Given the description of an element on the screen output the (x, y) to click on. 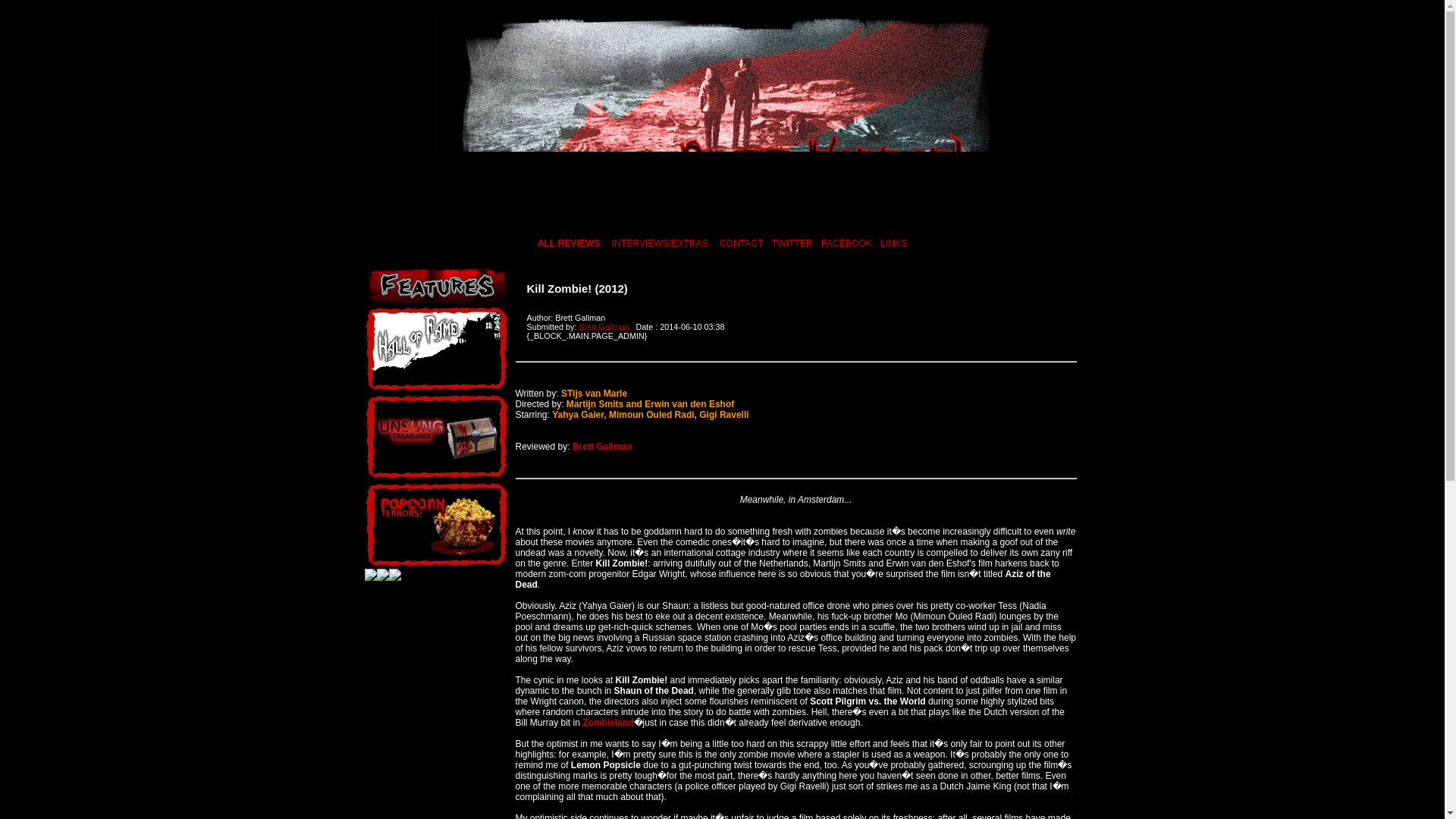
G  (621, 215)
CONTACT (740, 243)
LINKS (893, 243)
FACEBOOK (846, 243)
W  (887, 215)
N  (732, 215)
O  (749, 215)
C  (553, 215)
R  (801, 215)
U  (851, 215)
